Given the description of an element on the screen output the (x, y) to click on. 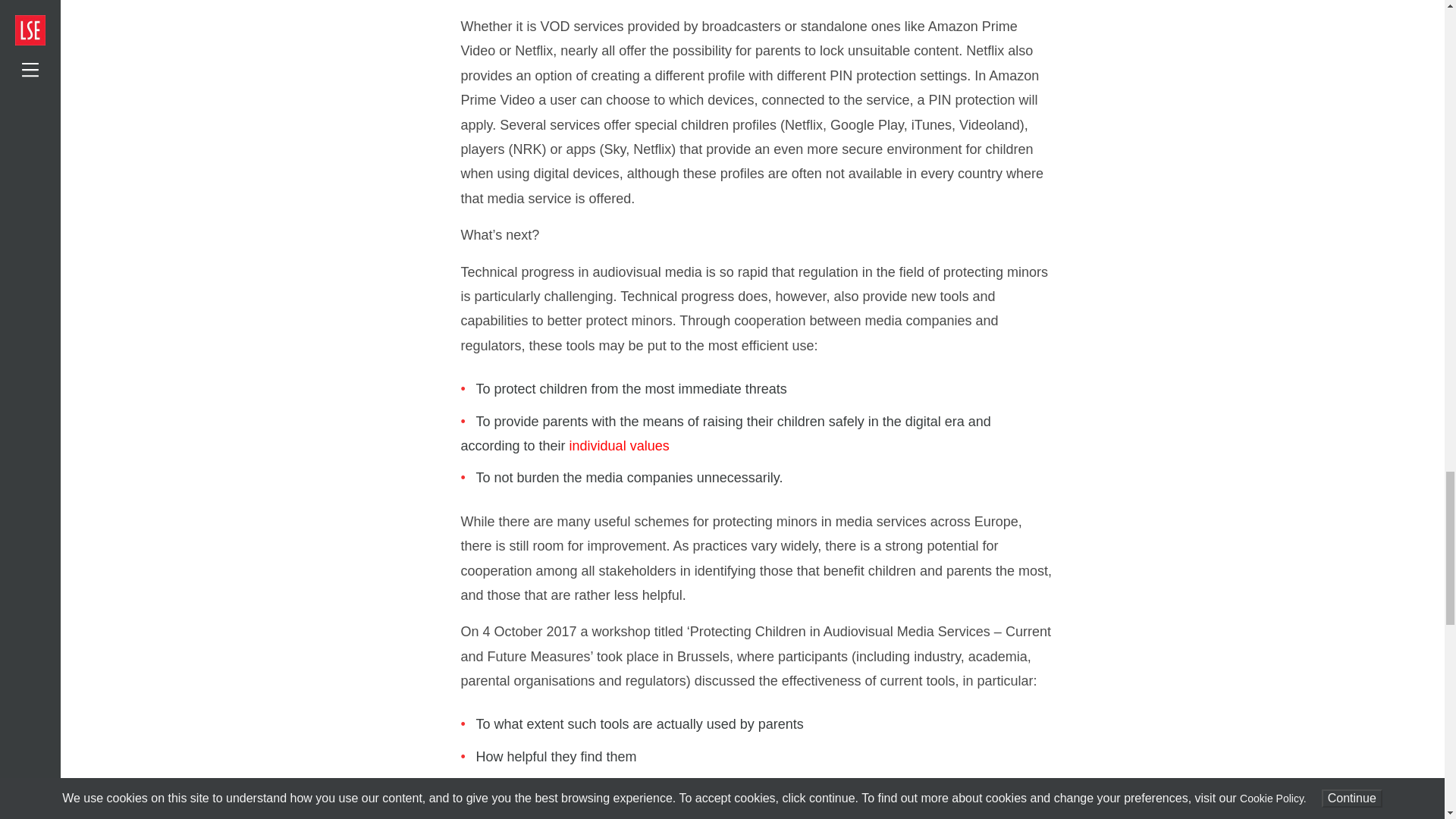
individual values (619, 445)
